Given the description of an element on the screen output the (x, y) to click on. 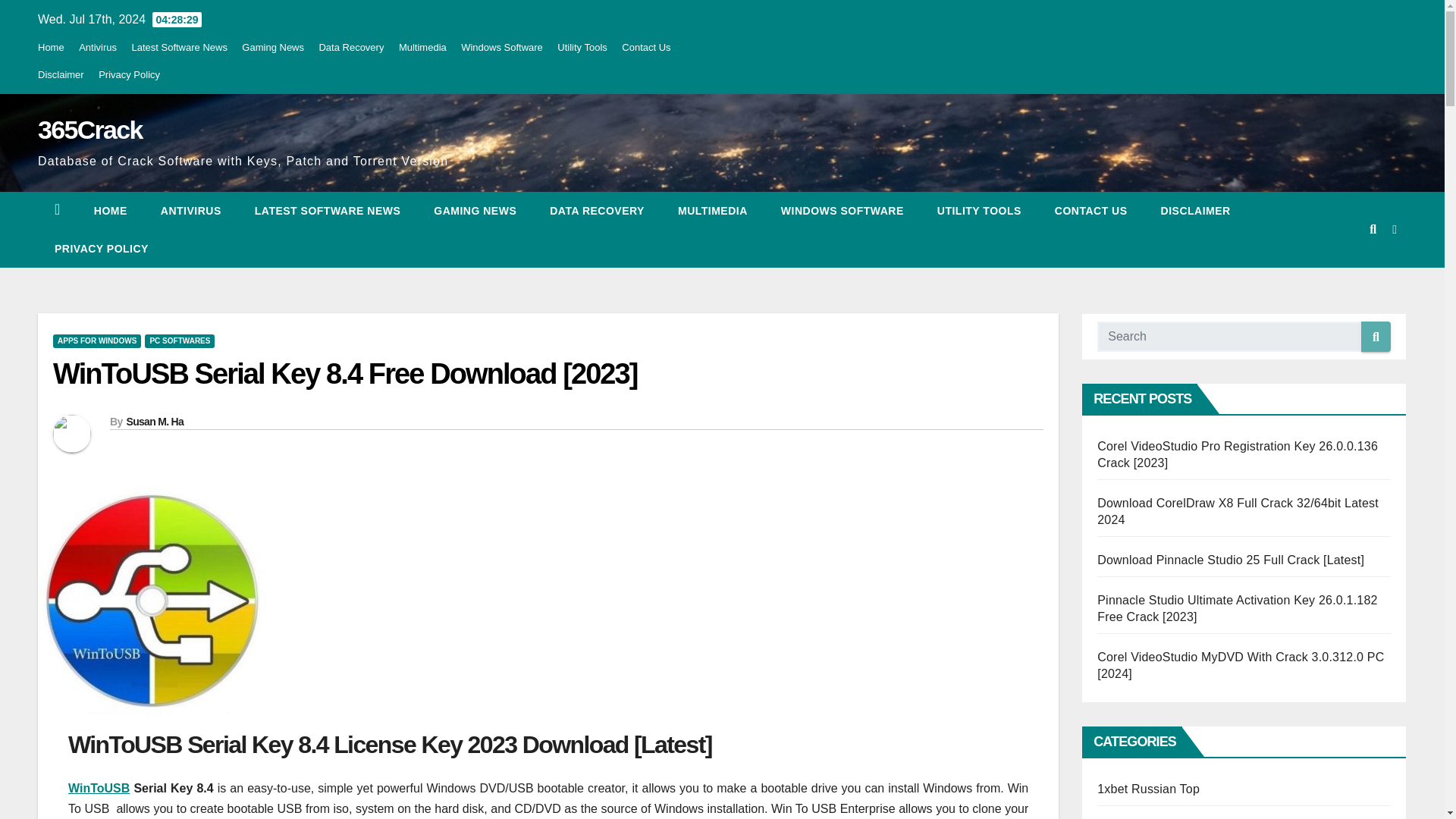
Latest Software News (327, 210)
Data Recovery (351, 47)
Data Recovery (596, 210)
Privacy Policy (129, 74)
Windows Software (502, 47)
Home (110, 210)
Multimedia (422, 47)
Antivirus (97, 47)
APPS FOR WINDOWS (96, 341)
Disclaimer (1195, 210)
CONTACT US (1091, 210)
PC SOFTWARES (179, 341)
WINDOWS SOFTWARE (842, 210)
Home (50, 47)
Gaming News (474, 210)
